Given the description of an element on the screen output the (x, y) to click on. 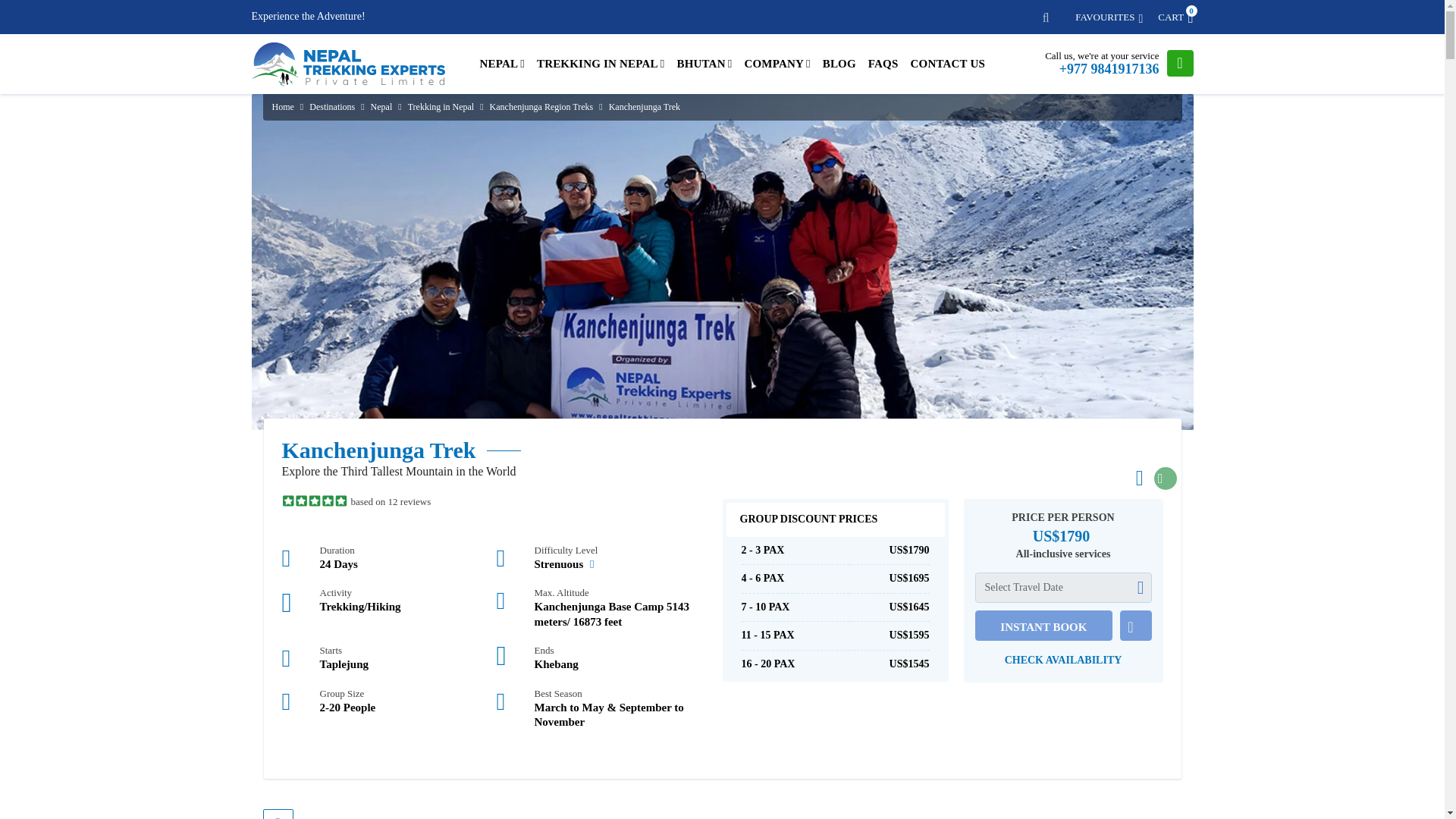
FAVOURITES (1174, 16)
